Given the description of an element on the screen output the (x, y) to click on. 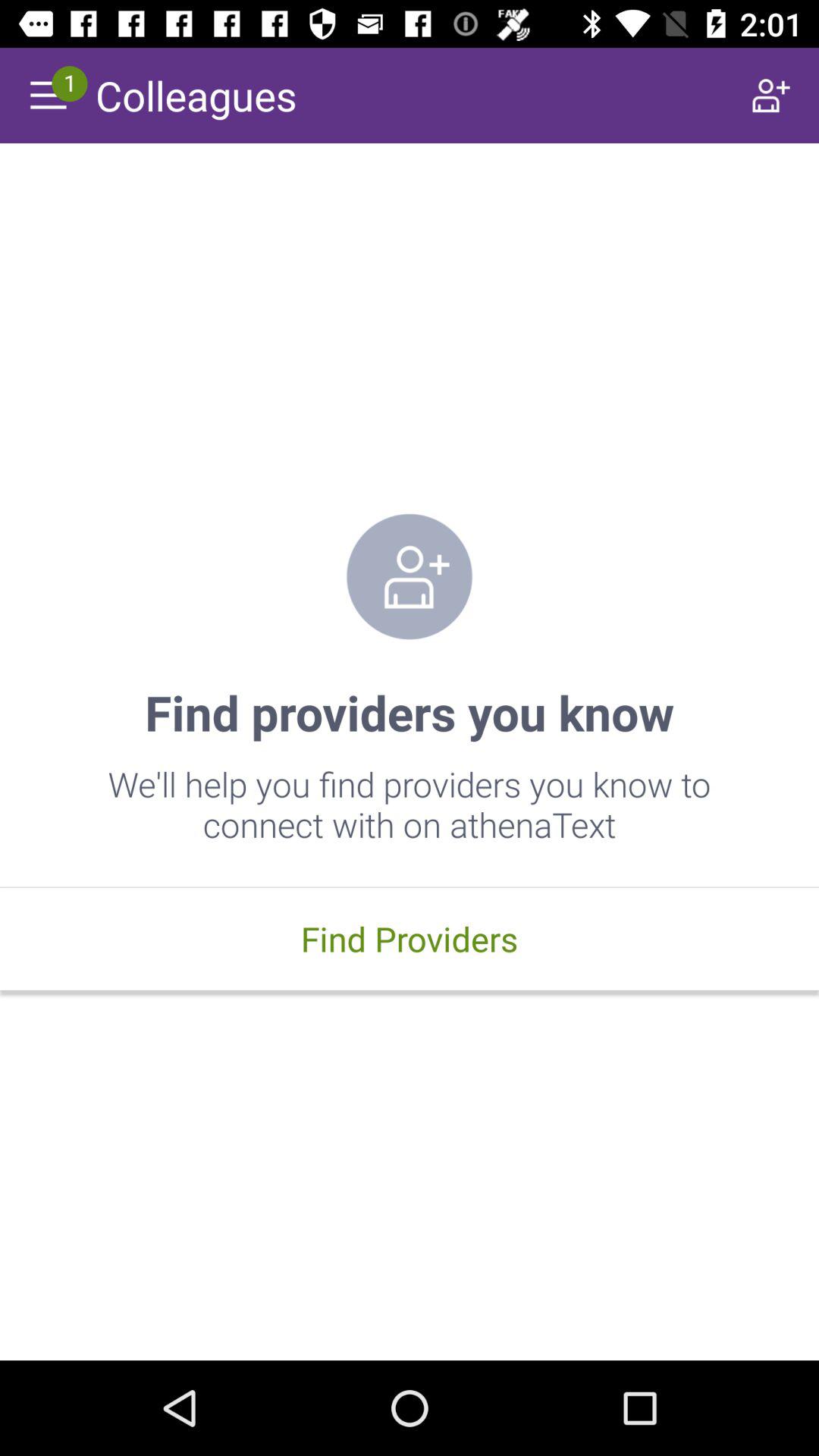
select the item to the right of colleagues item (771, 95)
